Given the description of an element on the screen output the (x, y) to click on. 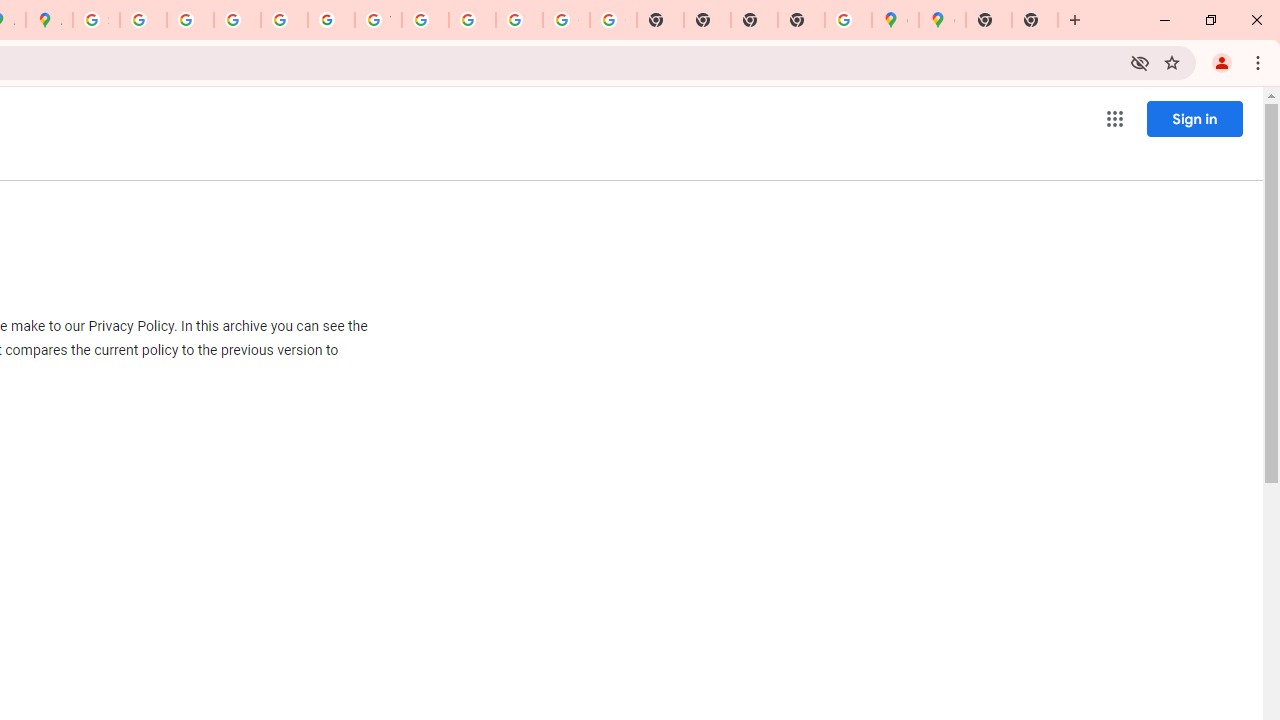
Use Google Maps in Space - Google Maps Help (848, 20)
New Tab (1035, 20)
New Tab (989, 20)
Google Maps (942, 20)
Privacy Help Center - Policies Help (237, 20)
Google Maps (895, 20)
